Given the description of an element on the screen output the (x, y) to click on. 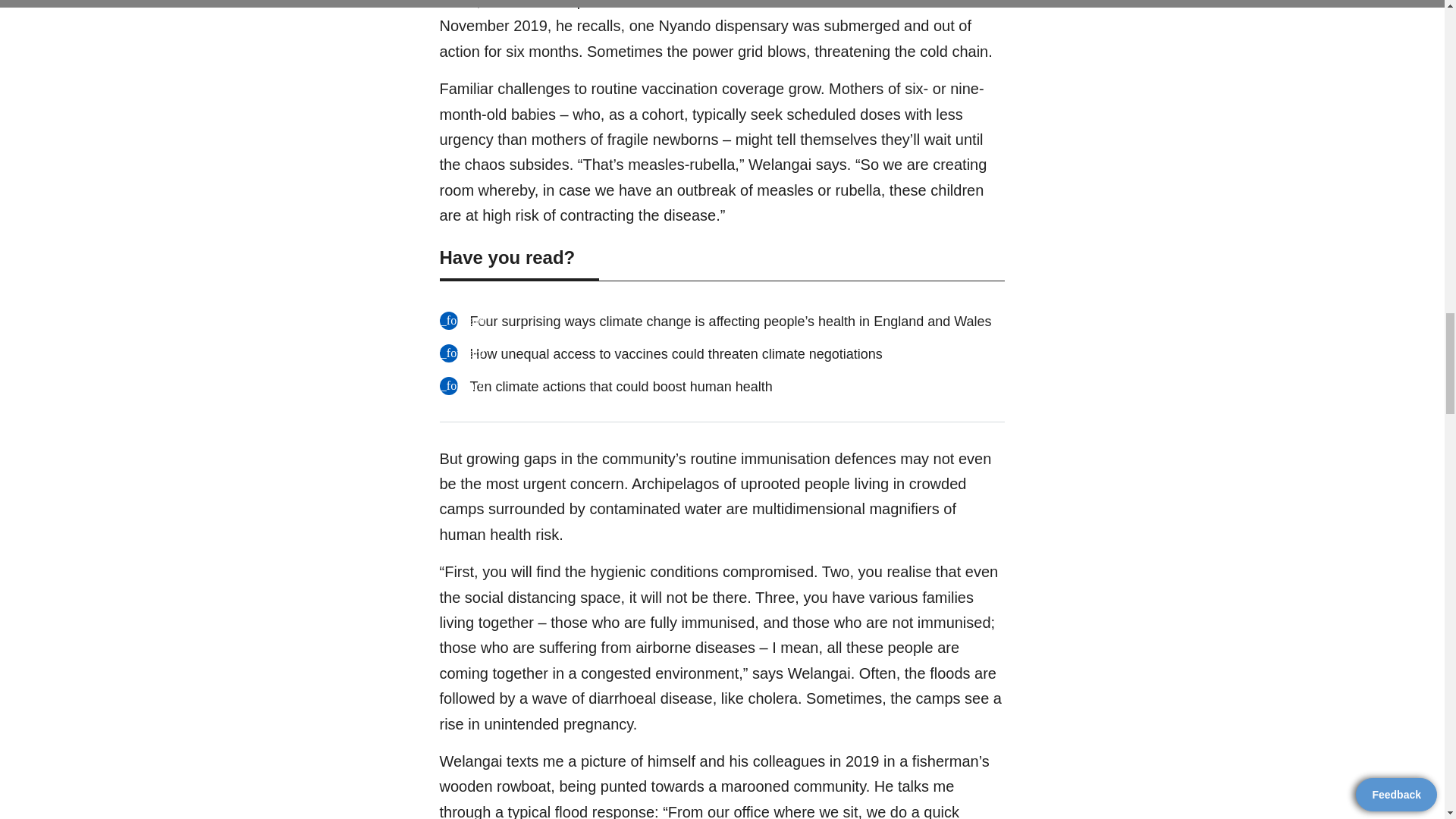
understood by scientists (560, 65)
bursting rivers (611, 3)
water level (855, 3)
calamitous rains (710, 3)
Ten climate actions that could boost human health (598, 590)
32,000 displaced persons (620, 35)
could be at risk (571, 102)
